Given the description of an element on the screen output the (x, y) to click on. 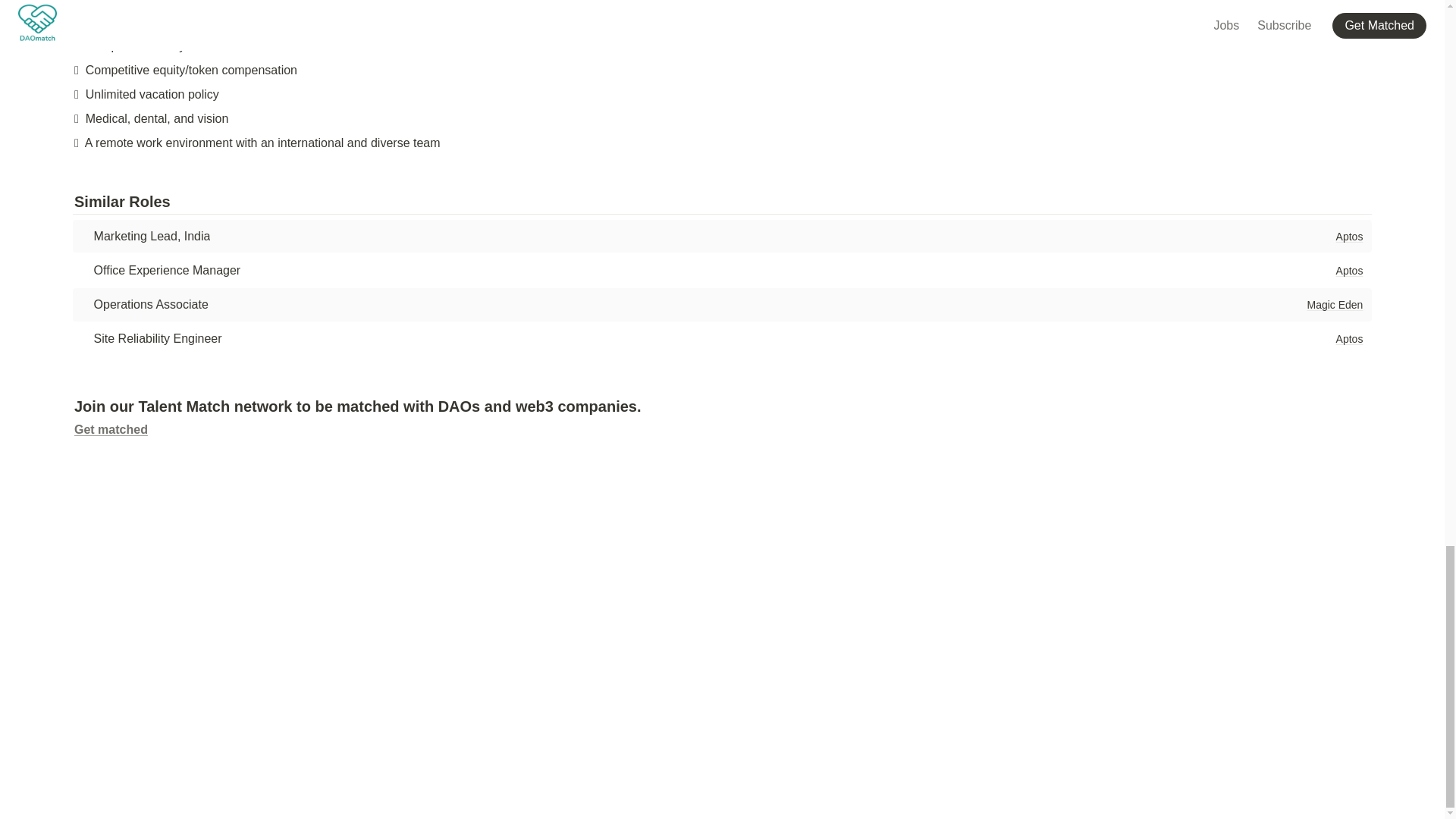
Aptos (1349, 270)
Magic Eden (1334, 304)
Get matched (111, 429)
Aptos (1349, 236)
Aptos (1349, 338)
